Given the description of an element on the screen output the (x, y) to click on. 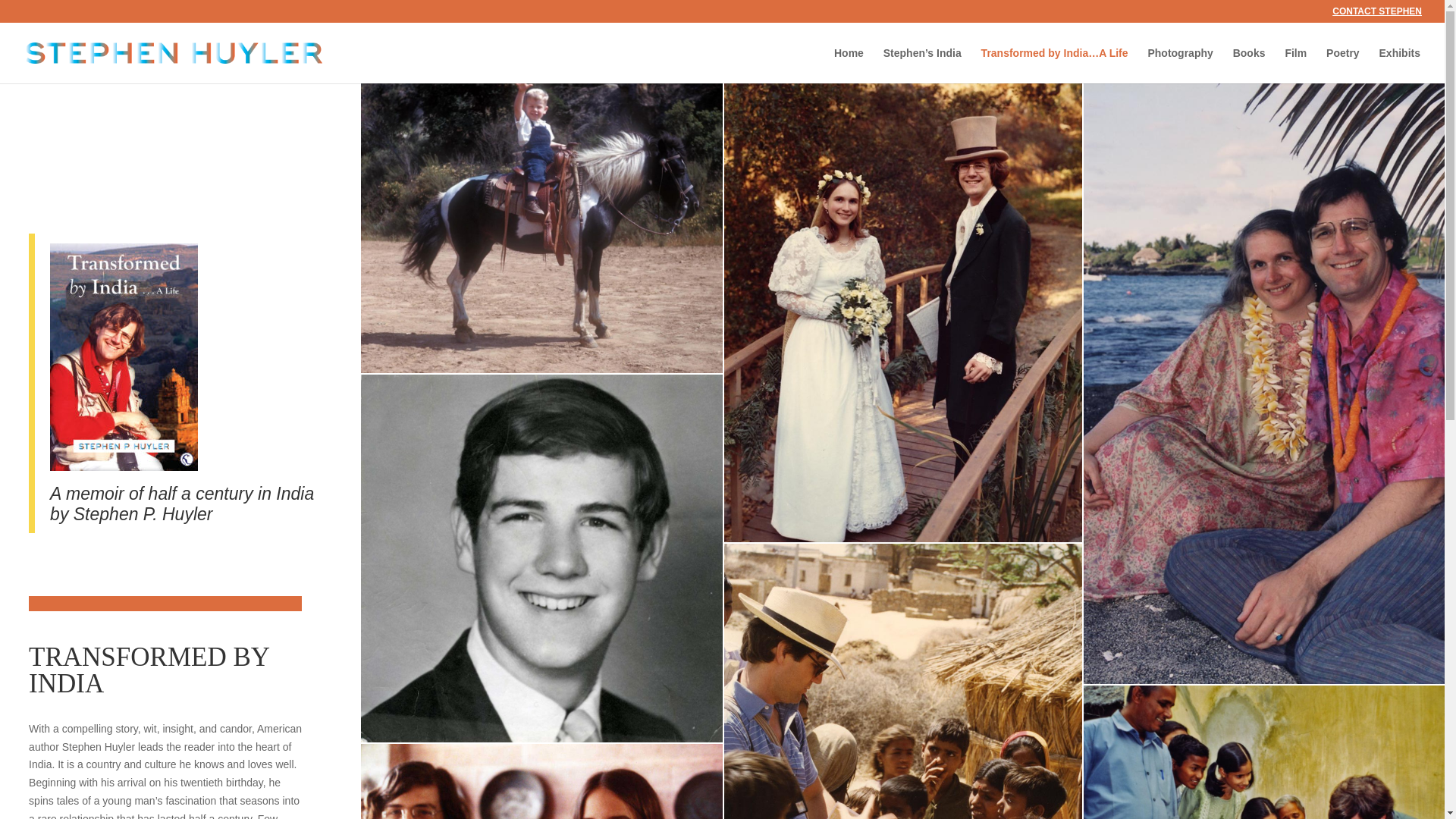
Photography (1179, 65)
Poetry (1342, 65)
CONTACT STEPHEN (1377, 14)
1953-4Stevie on horseback (541, 228)
1968-Steve-HighSchool-Senior-at-Thacher (541, 558)
Exhibits (1399, 65)
Books (1249, 65)
